Given the description of an element on the screen output the (x, y) to click on. 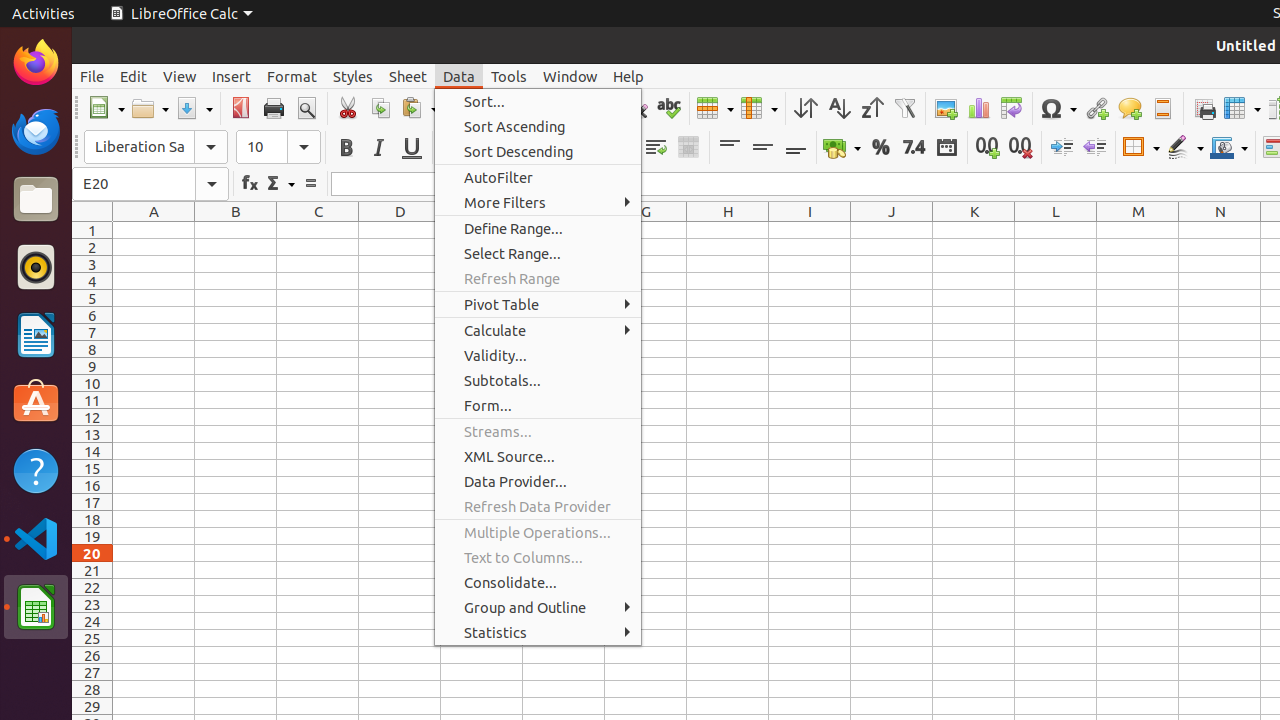
Comment Element type: push-button (1129, 108)
Row Element type: push-button (715, 108)
LibreOffice Calc Element type: menu (181, 13)
Center Vertically Element type: push-button (762, 147)
